Given the description of an element on the screen output the (x, y) to click on. 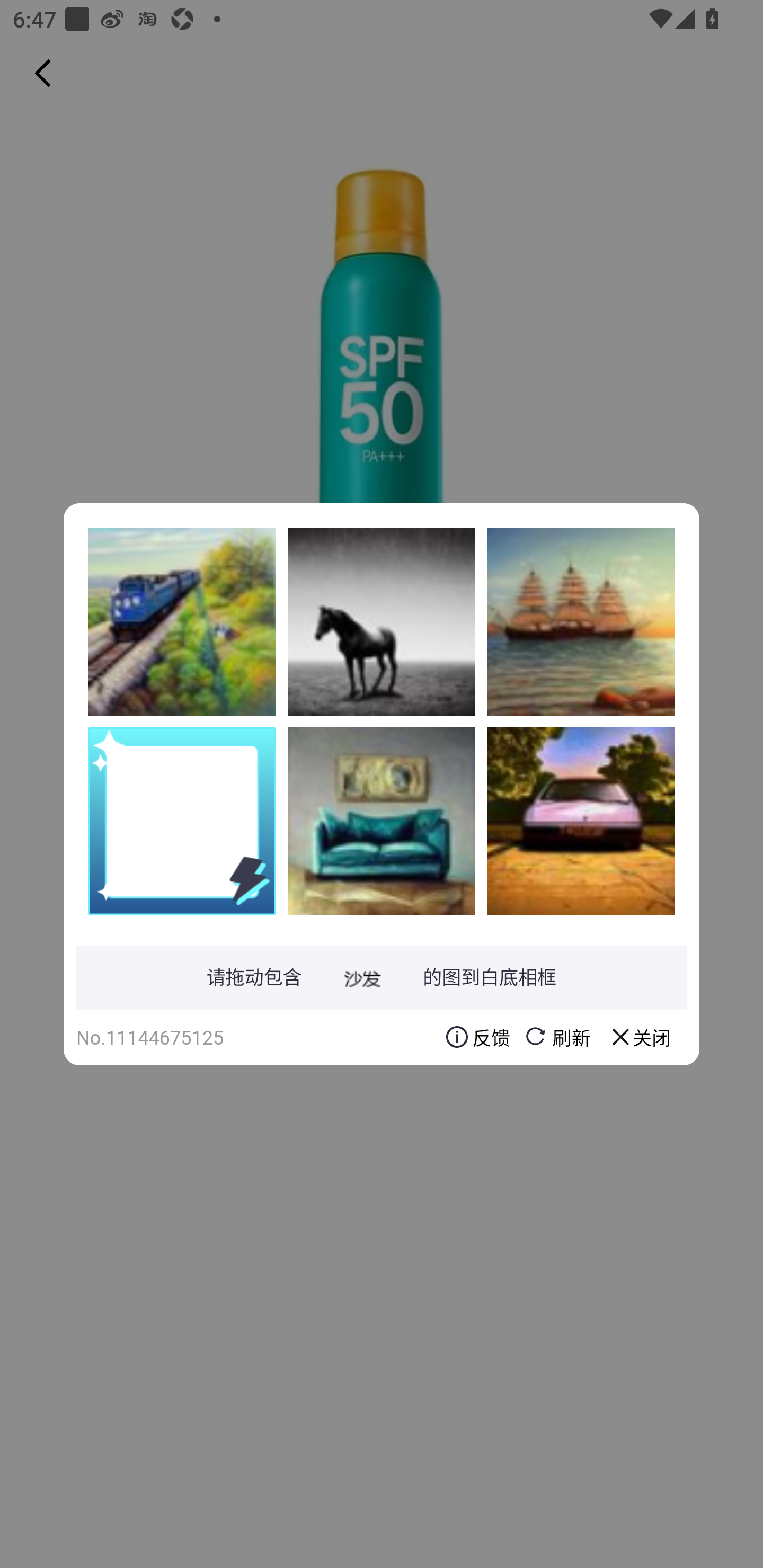
gCBkyzRRVnZcUck (181, 621)
UzX8LBLD8EY (381, 621)
cgDfoQBcEbUZPsiu7iCHRVSSBrr4Gmtxl9DUWozY (580, 621)
9mI1QstPEtjs1CDm+KRm+NQmJ0X+EyC73w (381, 820)
NHAjMmjMWrYUKgpyJJ1DggOcq (580, 820)
